Given the description of an element on the screen output the (x, y) to click on. 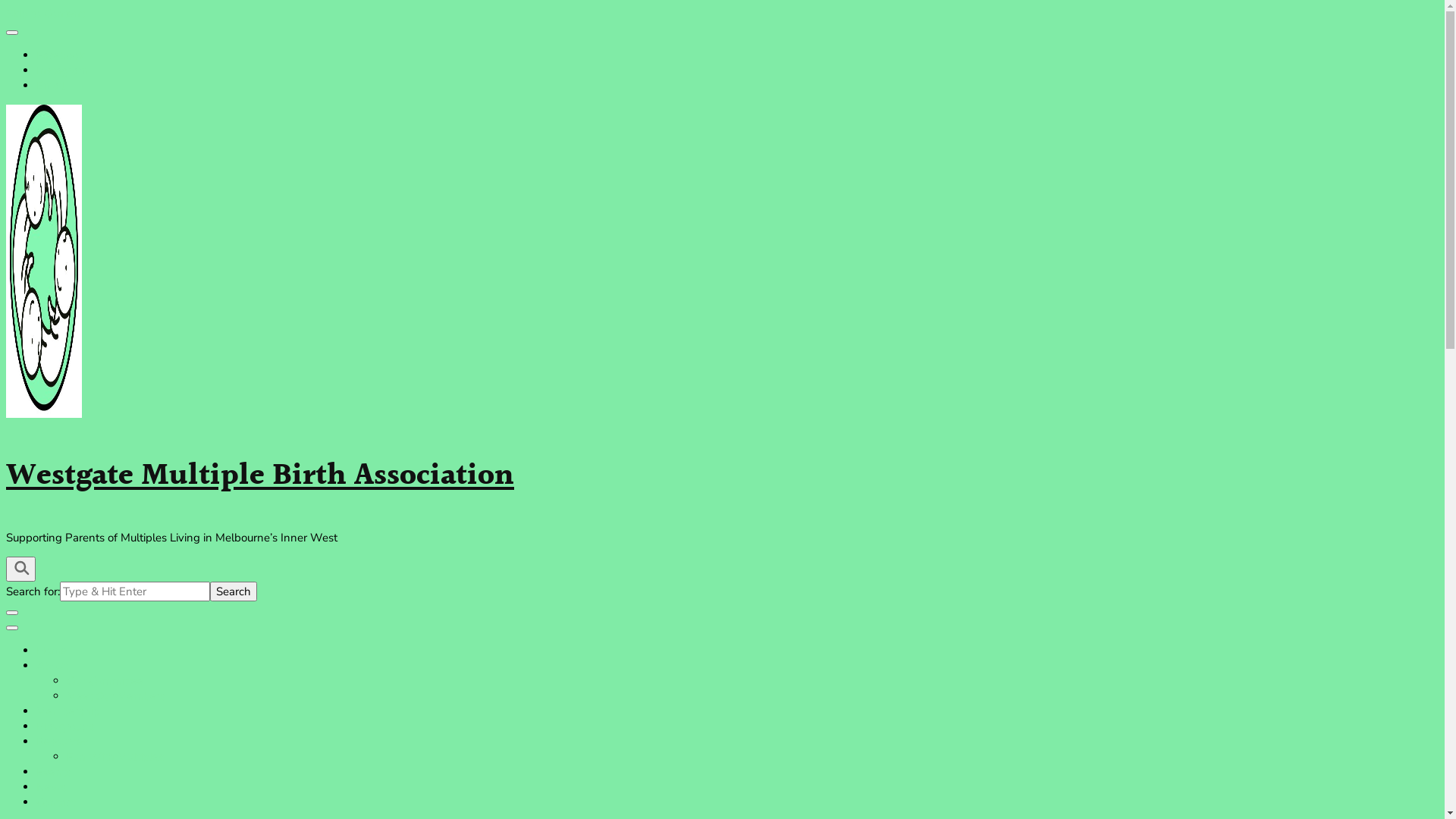
Our Committee Element type: text (104, 680)
Resources Element type: text (61, 741)
Skip to Content Element type: text (45, 13)
Membership Element type: text (68, 710)
Contact Element type: text (55, 801)
Search Element type: text (233, 591)
Westgate Multiple Birth Association Element type: text (260, 475)
News Element type: text (50, 786)
Facebook Element type: text (60, 54)
Fun With Multiples Element type: text (114, 756)
Instagram Element type: text (61, 70)
Home Element type: text (51, 650)
Playgroups Element type: text (65, 726)
Events Element type: text (53, 771)
Meet Our Members Element type: text (115, 695)
Email Element type: text (50, 85)
About Element type: text (51, 665)
